Given the description of an element on the screen output the (x, y) to click on. 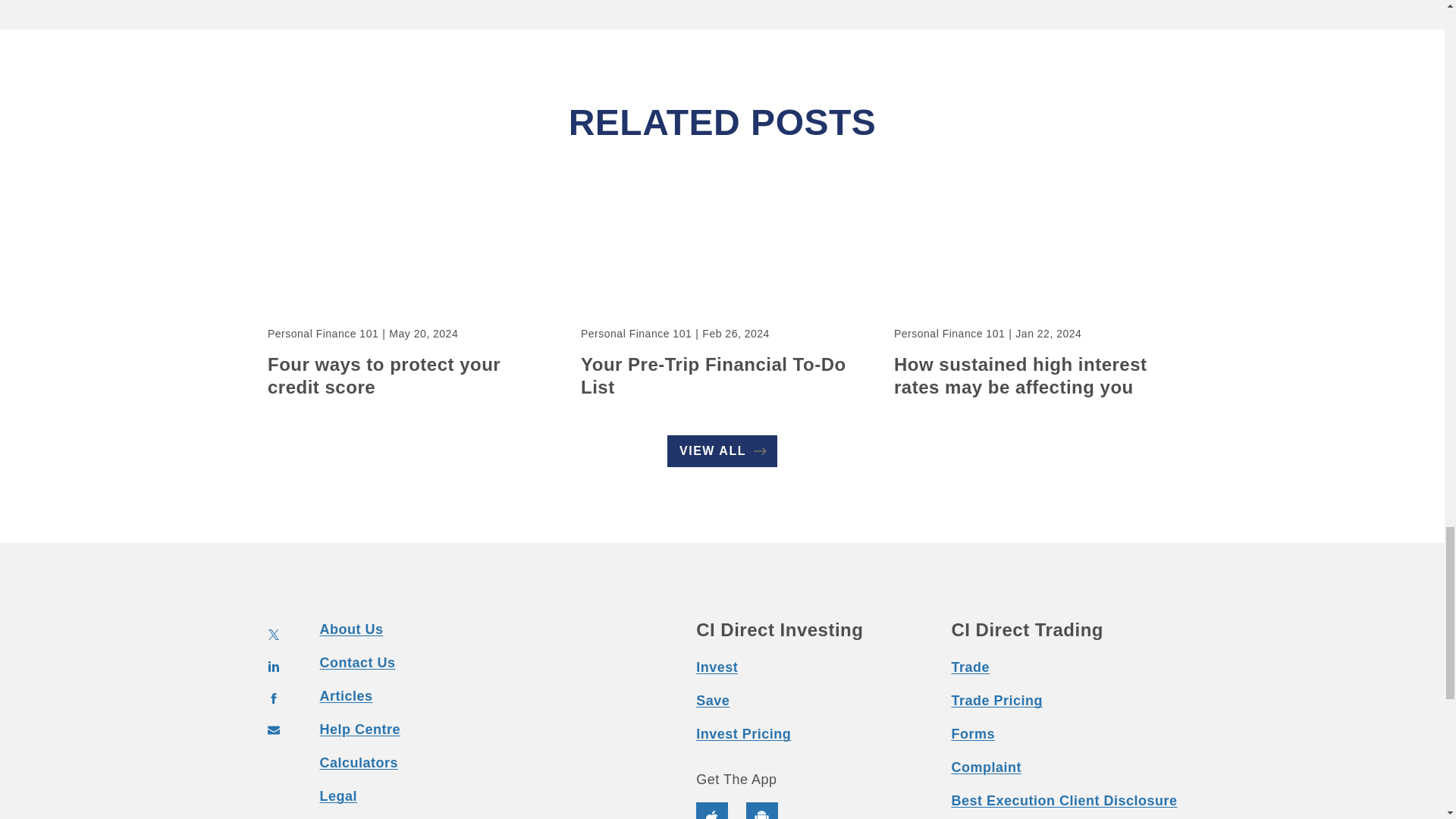
Legal (339, 795)
LinkedIn (273, 666)
Facebook (273, 698)
Twitter (273, 634)
Trade (970, 667)
Android (761, 810)
Save (712, 700)
About Us (352, 629)
Articles (346, 695)
VIEW ALL (721, 450)
Invest (716, 667)
Calculators (359, 762)
mailto:Email (273, 730)
